Given the description of an element on the screen output the (x, y) to click on. 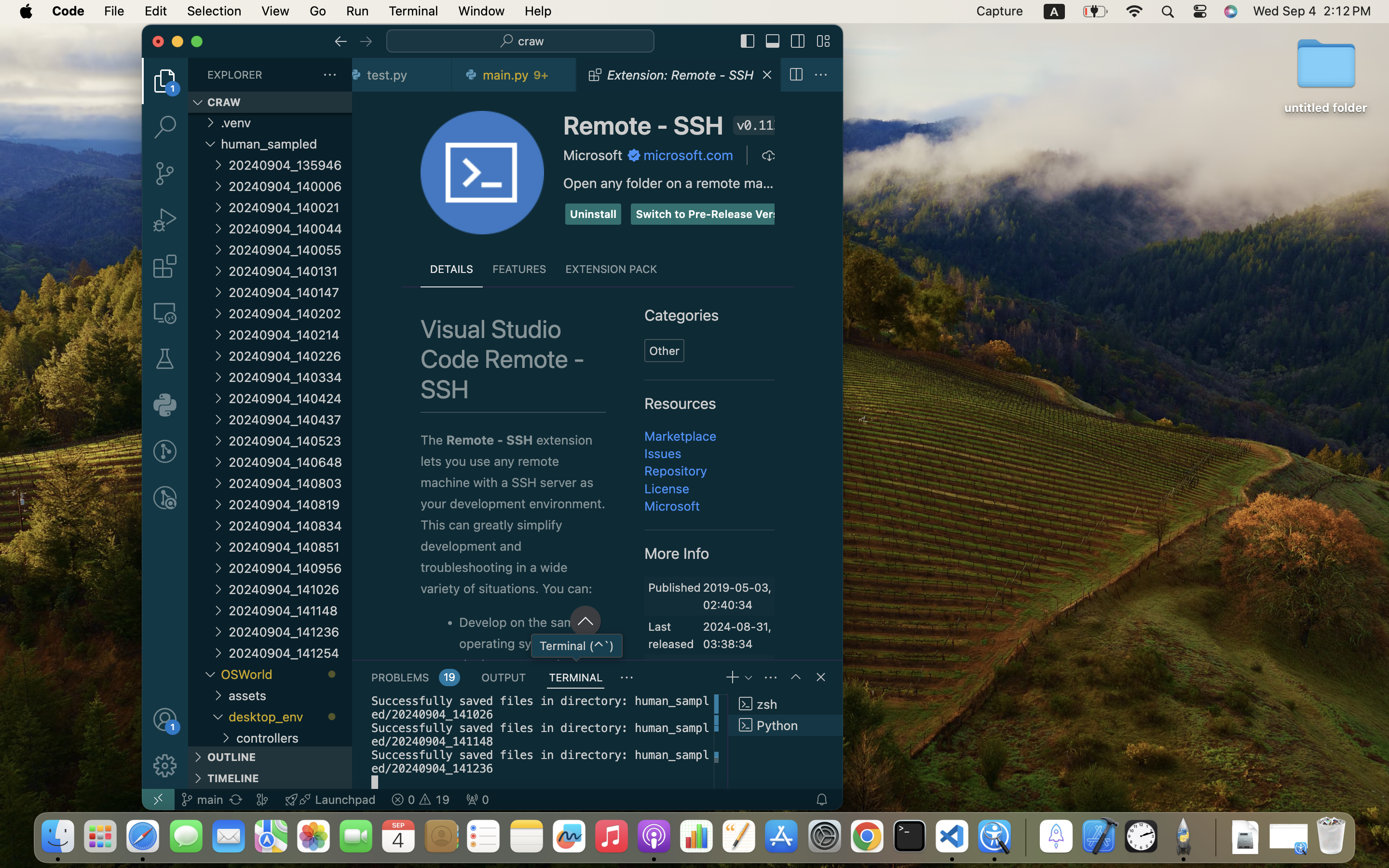
More Info Element type: AXStaticText (676, 552)
Categories Element type: AXStaticText (681, 315)
TIMELINE  Element type: AXButton (270, 777)
Python  Element type: AXGroup (785, 724)
EXPLORER Element type: AXStaticText (234, 74)
